Given the description of an element on the screen output the (x, y) to click on. 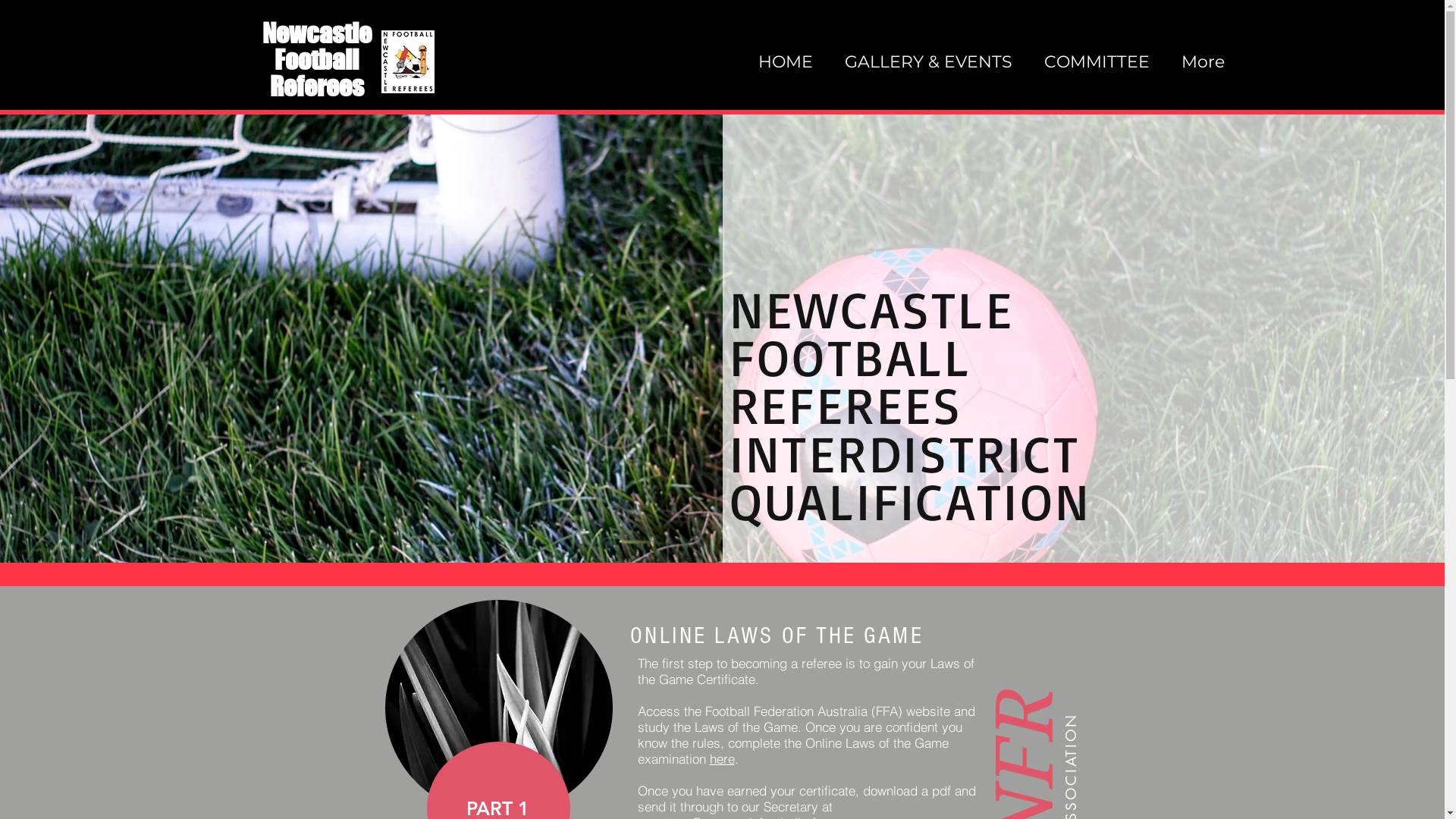
HOME Element type: text (789, 61)
COMMITTEE Element type: text (1101, 61)
here Element type: text (721, 758)
GALLERY & EVENTS Element type: text (932, 61)
